Given the description of an element on the screen output the (x, y) to click on. 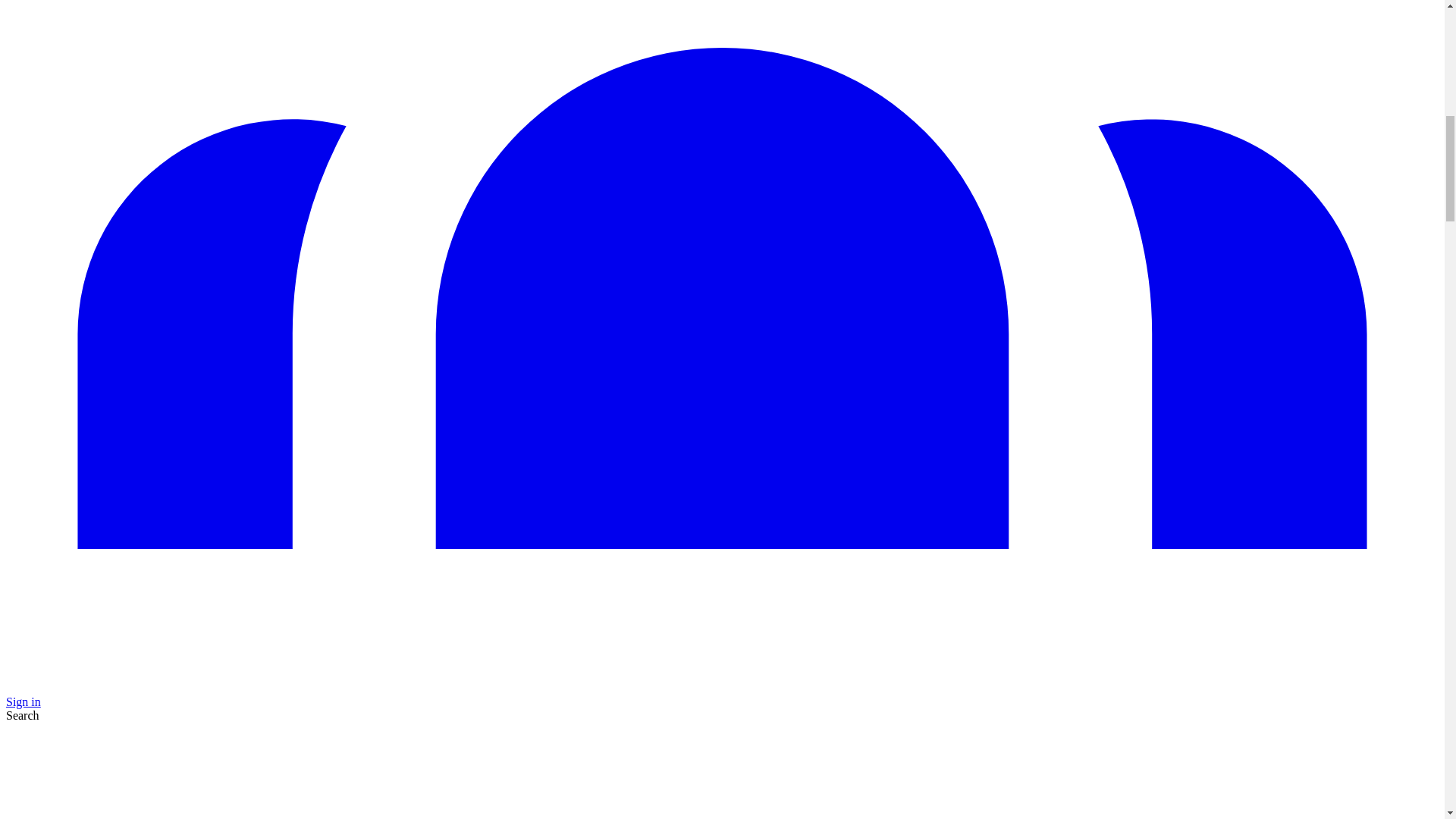
Sign in (22, 701)
Sign in (22, 701)
